Given the description of an element on the screen output the (x, y) to click on. 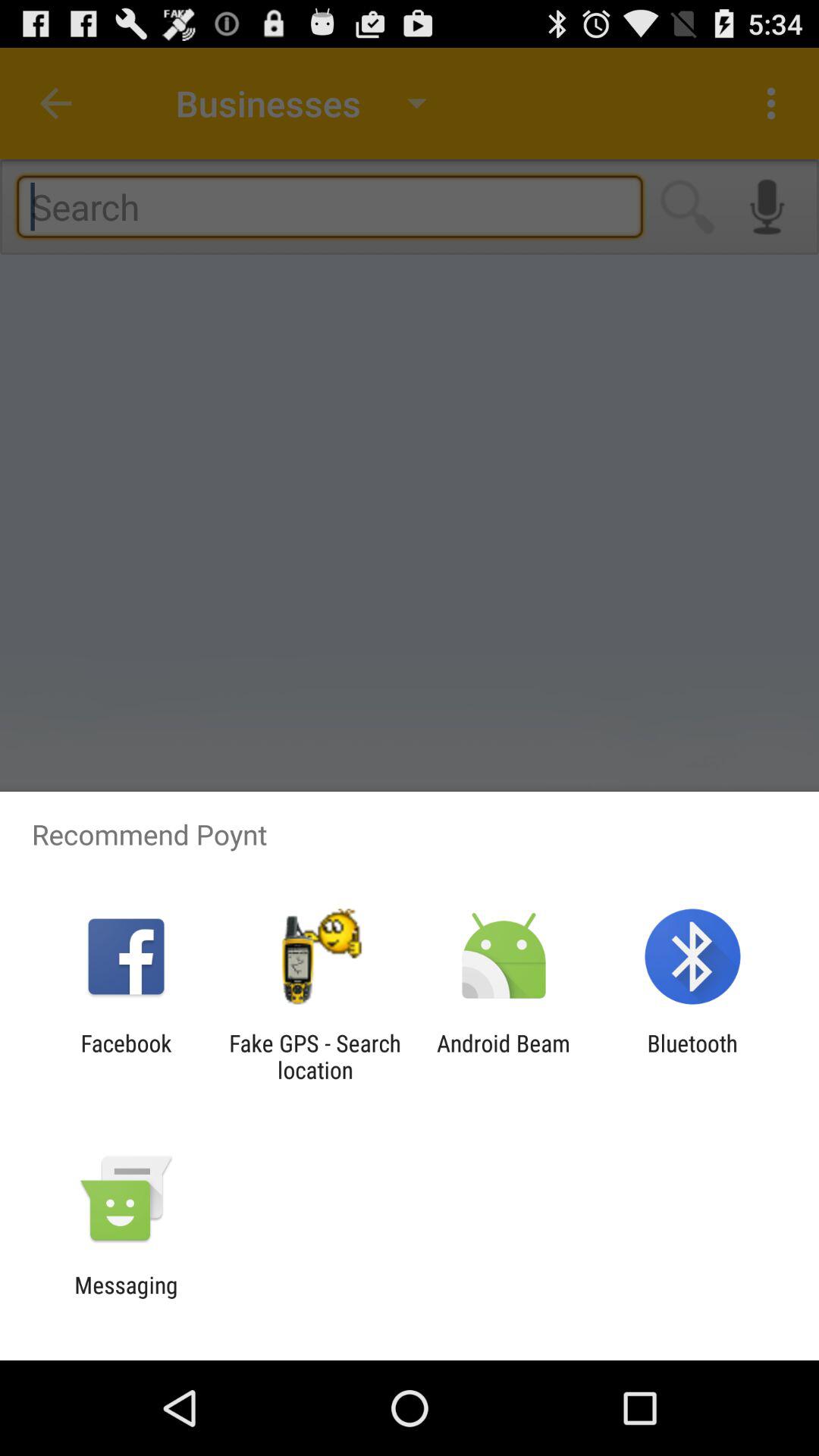
tap the icon to the right of the fake gps search item (503, 1056)
